Given the description of an element on the screen output the (x, y) to click on. 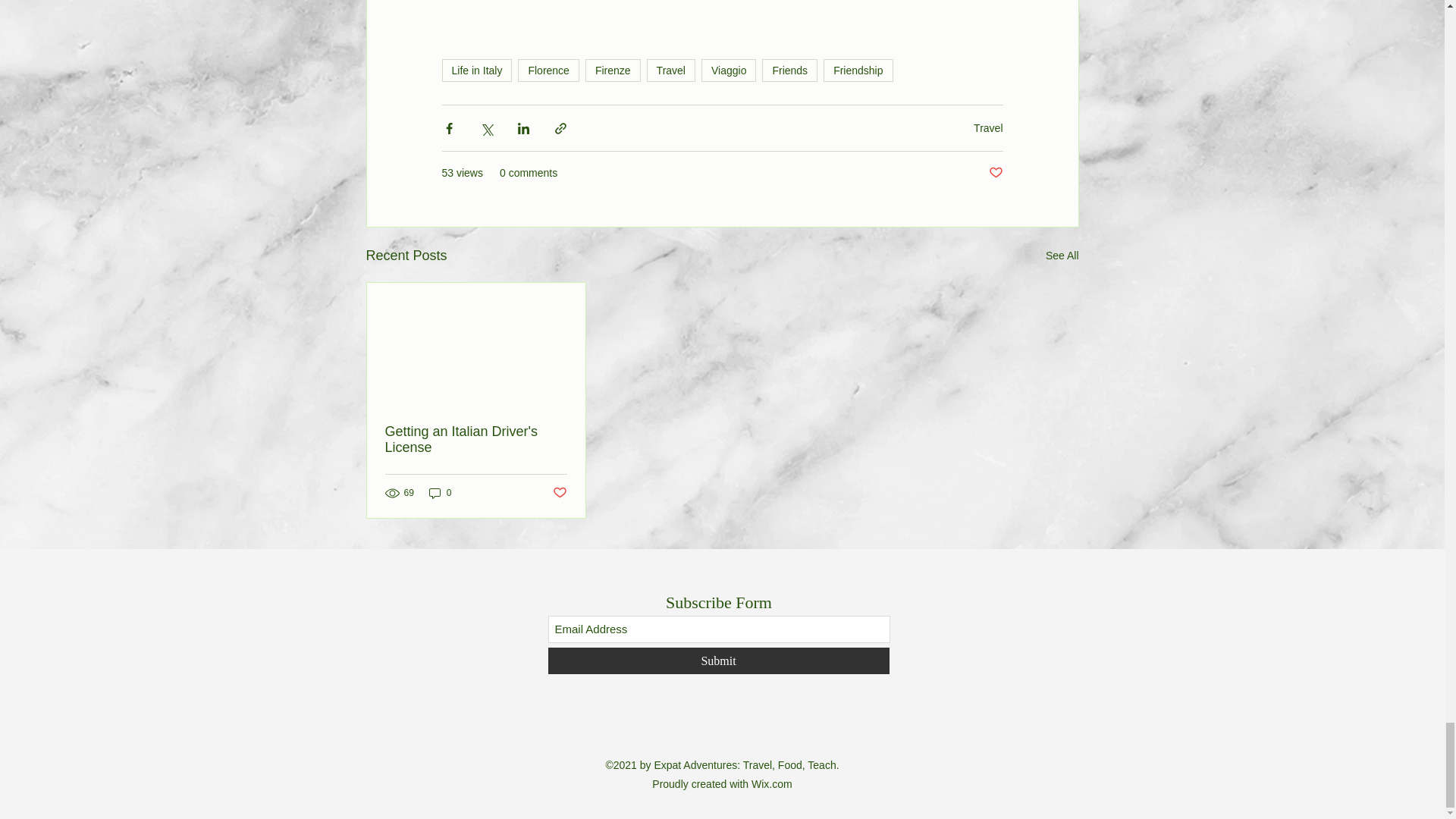
Friends (788, 69)
Viaggio (728, 69)
Life in Italy (476, 69)
Florence (548, 69)
Travel (988, 128)
Friendship (858, 69)
Post not marked as liked (995, 172)
Firenze (612, 69)
See All (1061, 255)
Travel (670, 69)
